Given the description of an element on the screen output the (x, y) to click on. 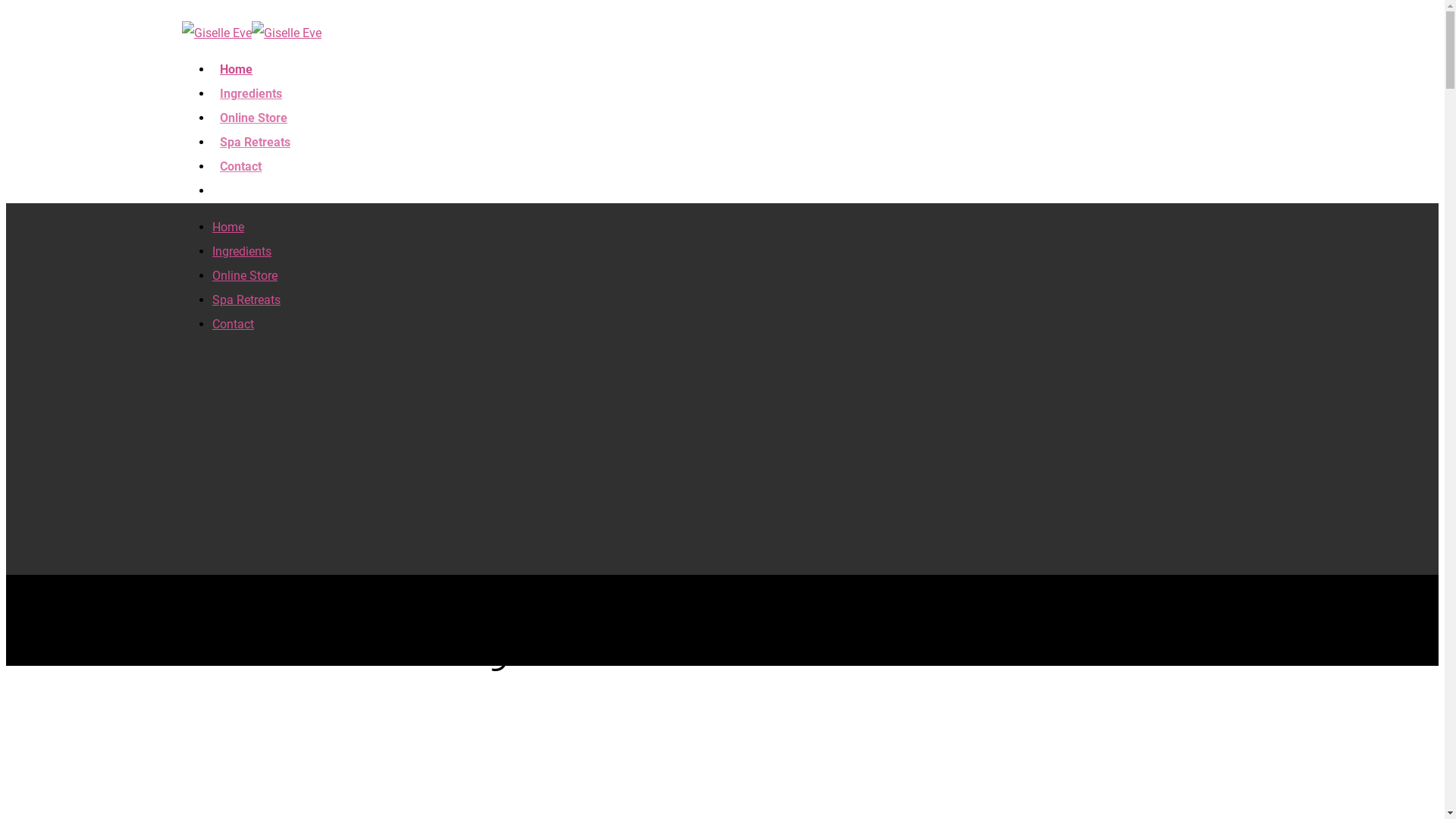
Spa Retreats Element type: text (254, 149)
Home Element type: text (228, 226)
Contact Element type: text (233, 323)
Spa Retreats Element type: text (246, 299)
Contact Element type: text (240, 173)
Online Store Element type: text (244, 275)
Home Element type: text (235, 76)
Ingredients Element type: text (250, 101)
Online Store Element type: text (253, 125)
Ingredients Element type: text (241, 251)
